Given the description of an element on the screen output the (x, y) to click on. 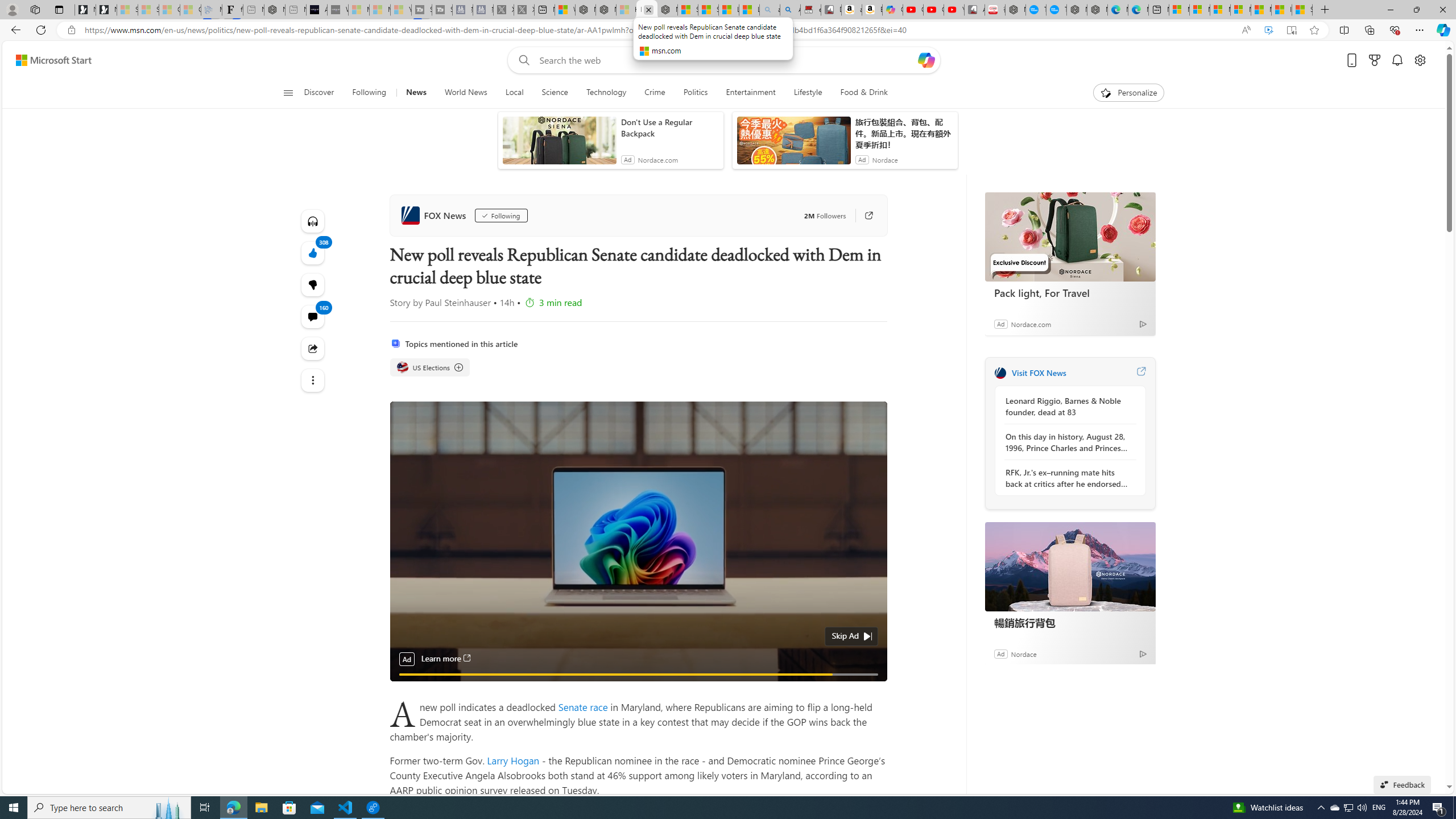
Skip to footer (46, 59)
Entertainment (750, 92)
Open navigation menu (287, 92)
Microsoft rewards (1374, 60)
Pack light, For Travel (1069, 292)
